Given the description of an element on the screen output the (x, y) to click on. 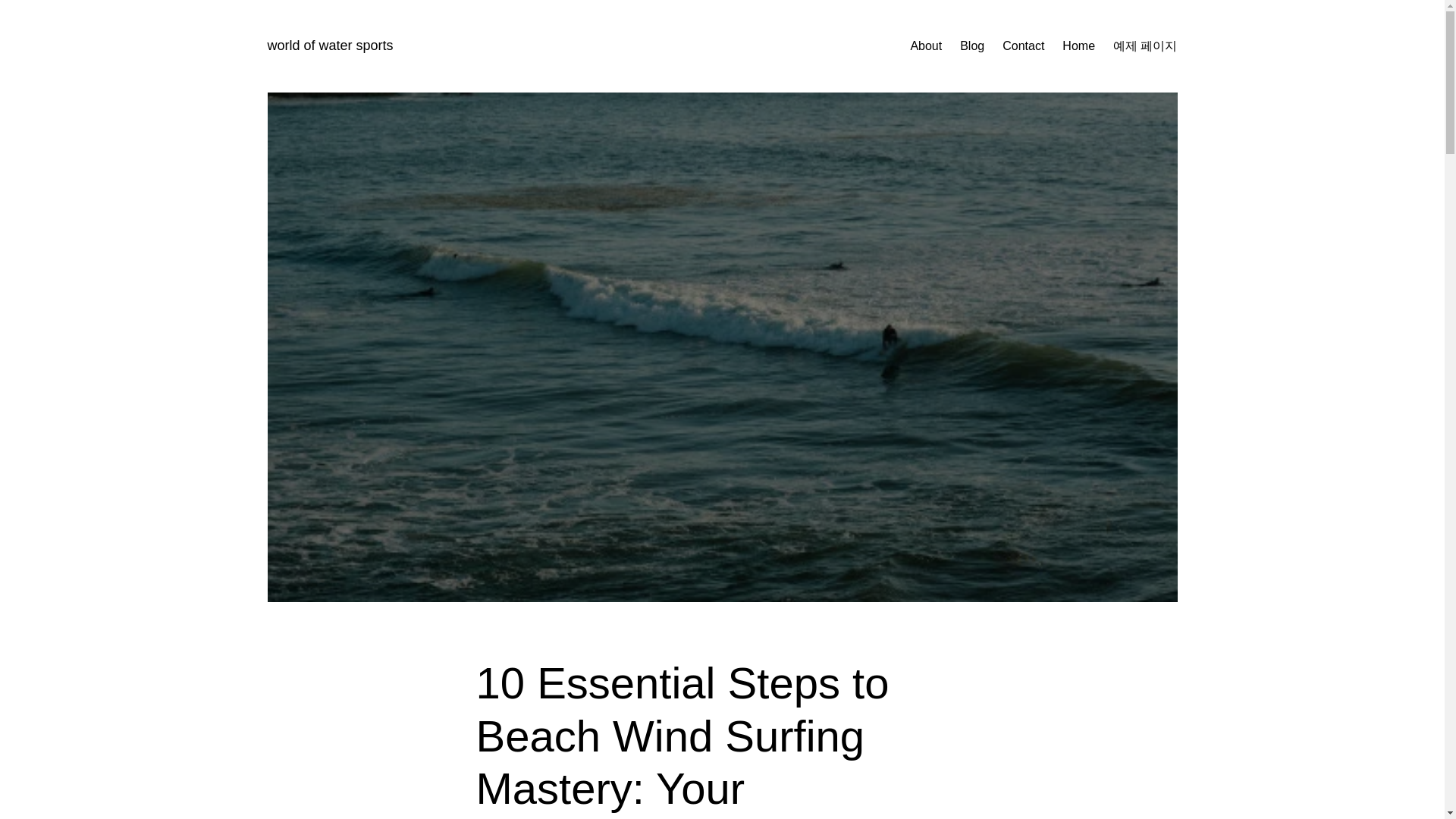
About (926, 46)
world of water sports (329, 45)
Blog (971, 46)
Home (1078, 46)
Contact (1023, 46)
